Given the description of an element on the screen output the (x, y) to click on. 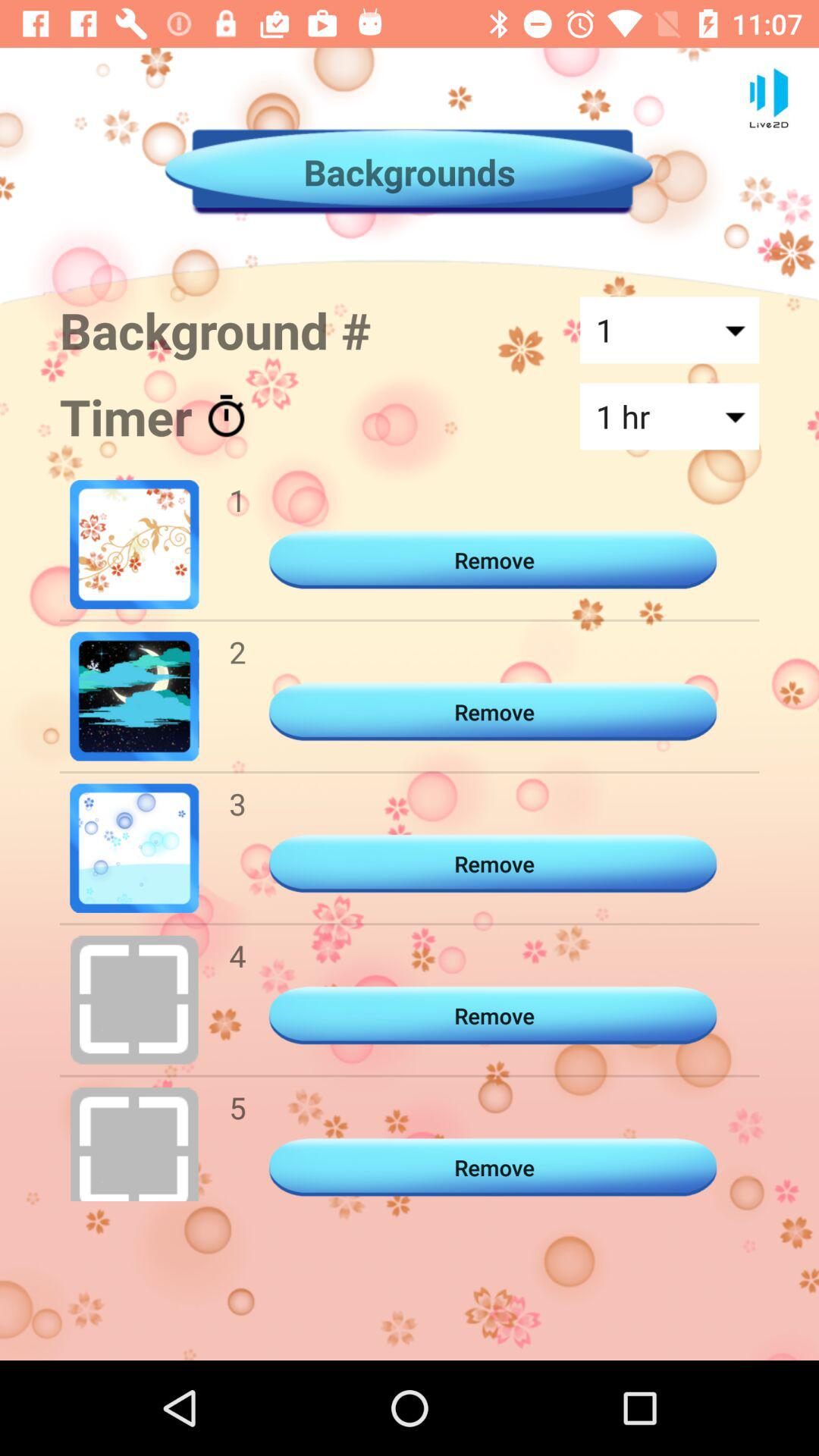
flip until the 4 (237, 955)
